Given the description of an element on the screen output the (x, y) to click on. 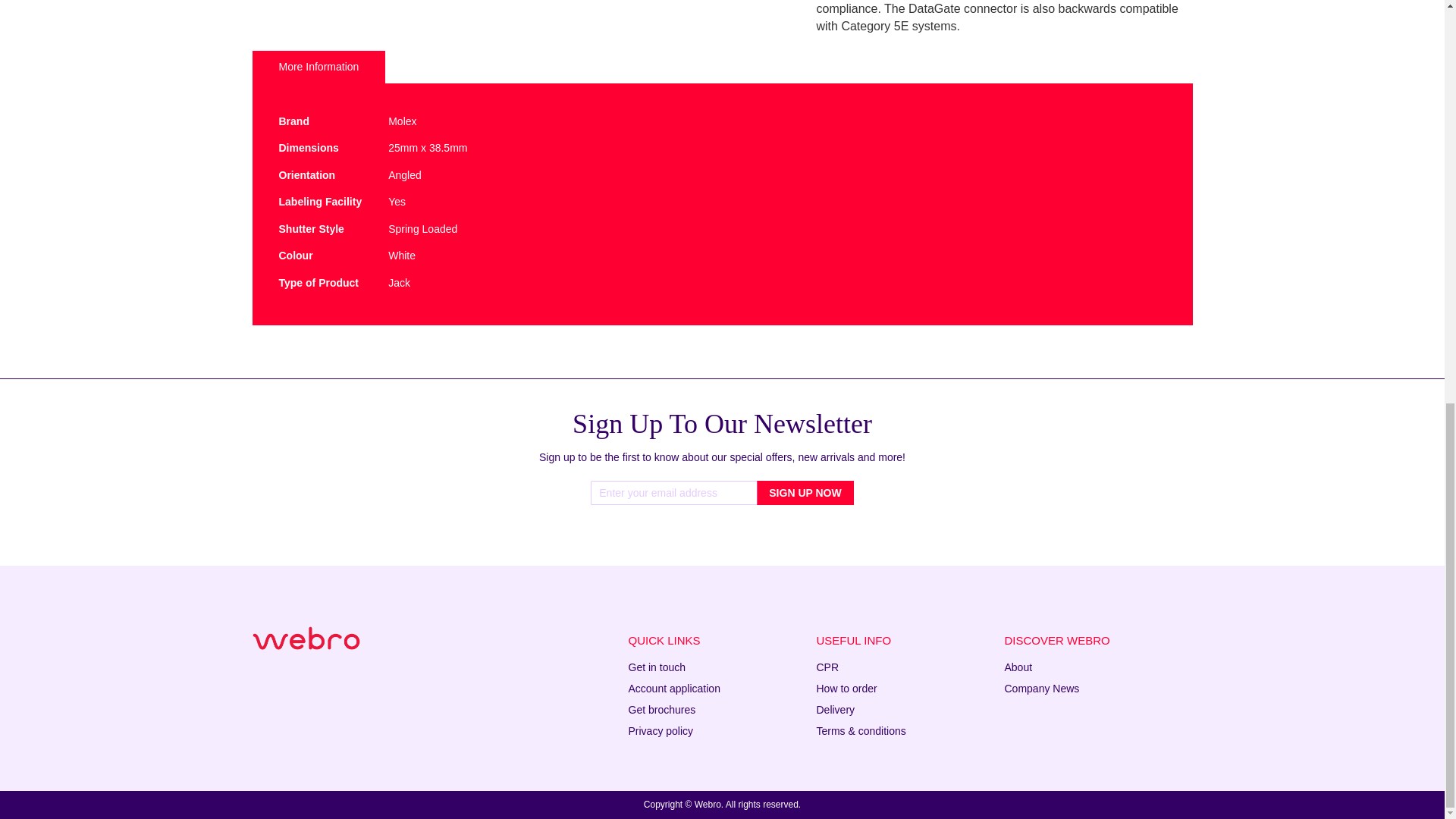
Get brochures (661, 709)
Privacy policy (660, 730)
Sign Up Now (805, 492)
About (1018, 666)
Get in touch (656, 666)
Delivery (834, 709)
CPR (826, 666)
Company News (1041, 688)
Account application (673, 688)
How to order (845, 688)
